Given the description of an element on the screen output the (x, y) to click on. 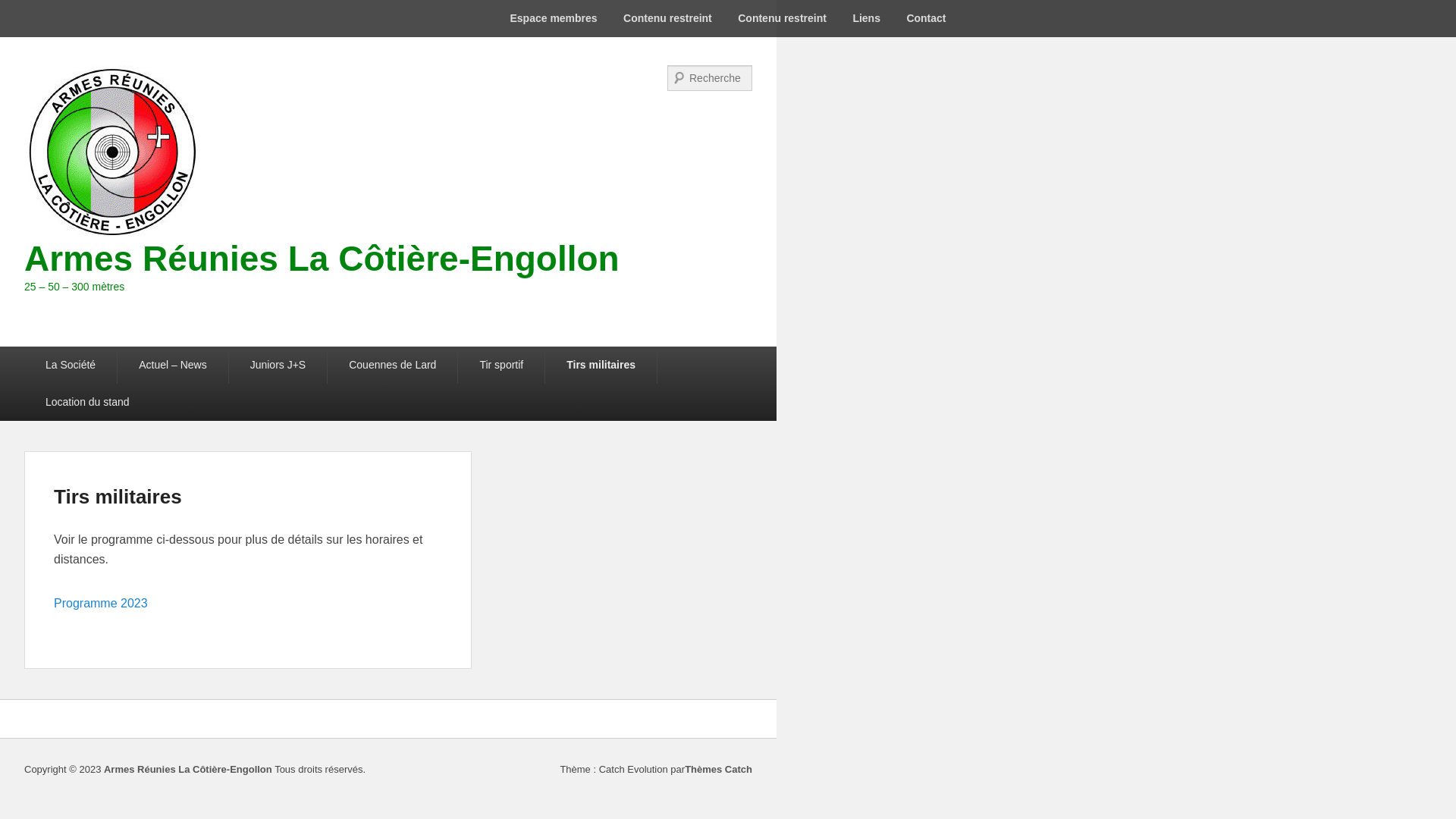
Programme 2023 Element type: text (100, 602)
Location du stand Element type: text (87, 401)
Espace membres Element type: text (553, 18)
Contenu restreint Element type: text (667, 18)
Couennes de Lard Element type: text (392, 364)
Contact Element type: text (925, 18)
Recherche Element type: text (29, 10)
Tir sportif Element type: text (501, 364)
Tirs militaires Element type: text (600, 364)
Liens Element type: text (865, 18)
Juniors J+S Element type: text (278, 364)
Tirs militaires Element type: text (117, 496)
Contenu restreint Element type: text (781, 18)
